Given the description of an element on the screen output the (x, y) to click on. 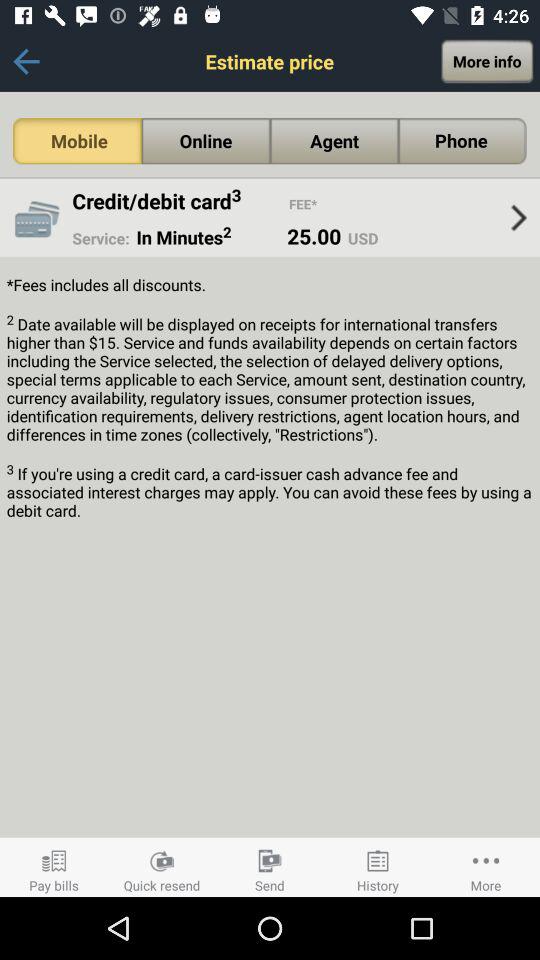
jump until the usd icon (359, 238)
